Given the description of an element on the screen output the (x, y) to click on. 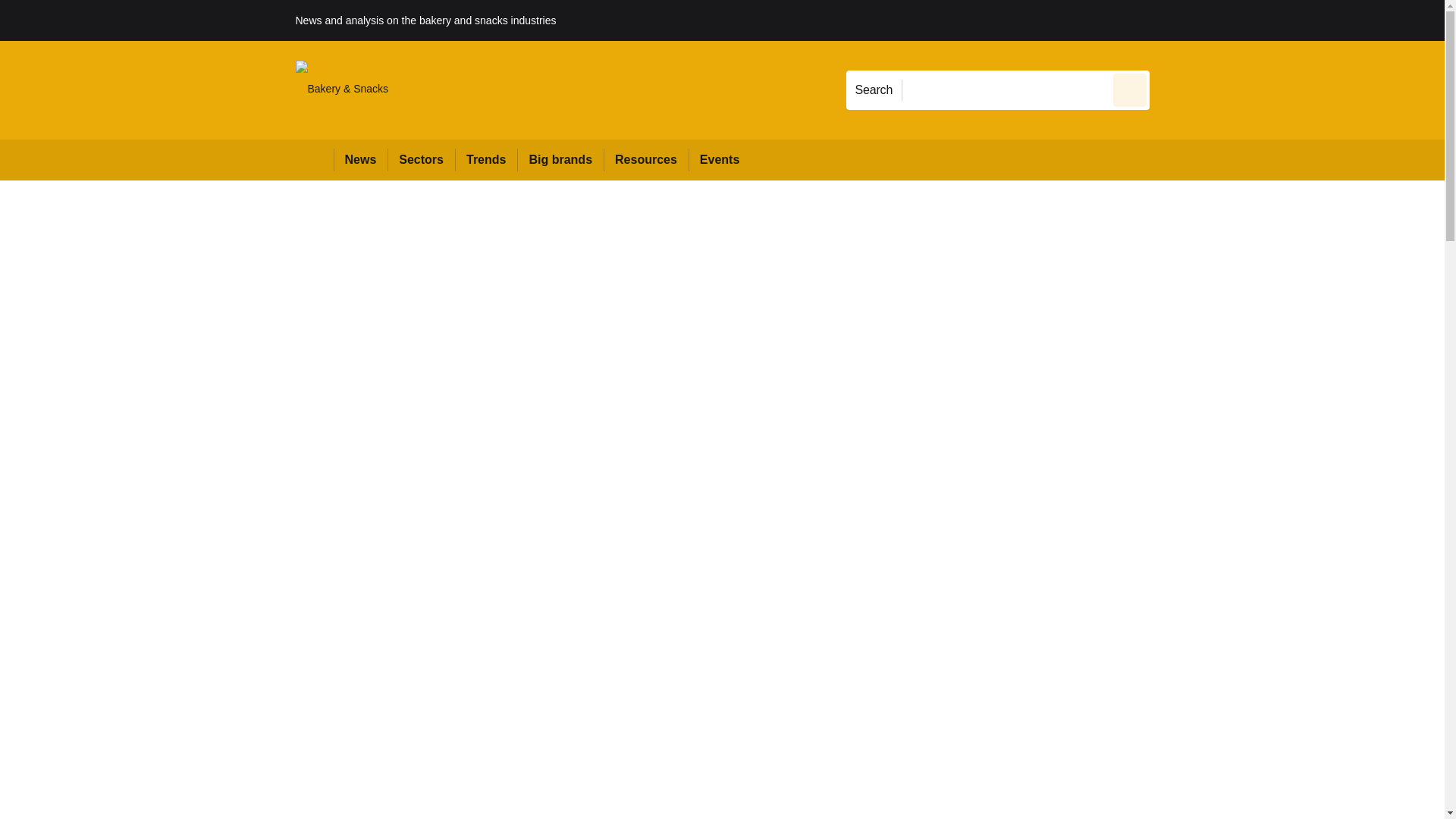
My account (1256, 20)
News (360, 159)
Home (314, 159)
Sectors (420, 159)
Sign in (1171, 20)
Sign out (1174, 20)
Home (313, 159)
Send (1129, 90)
Send (1129, 89)
REGISTER (1250, 20)
